Given the description of an element on the screen output the (x, y) to click on. 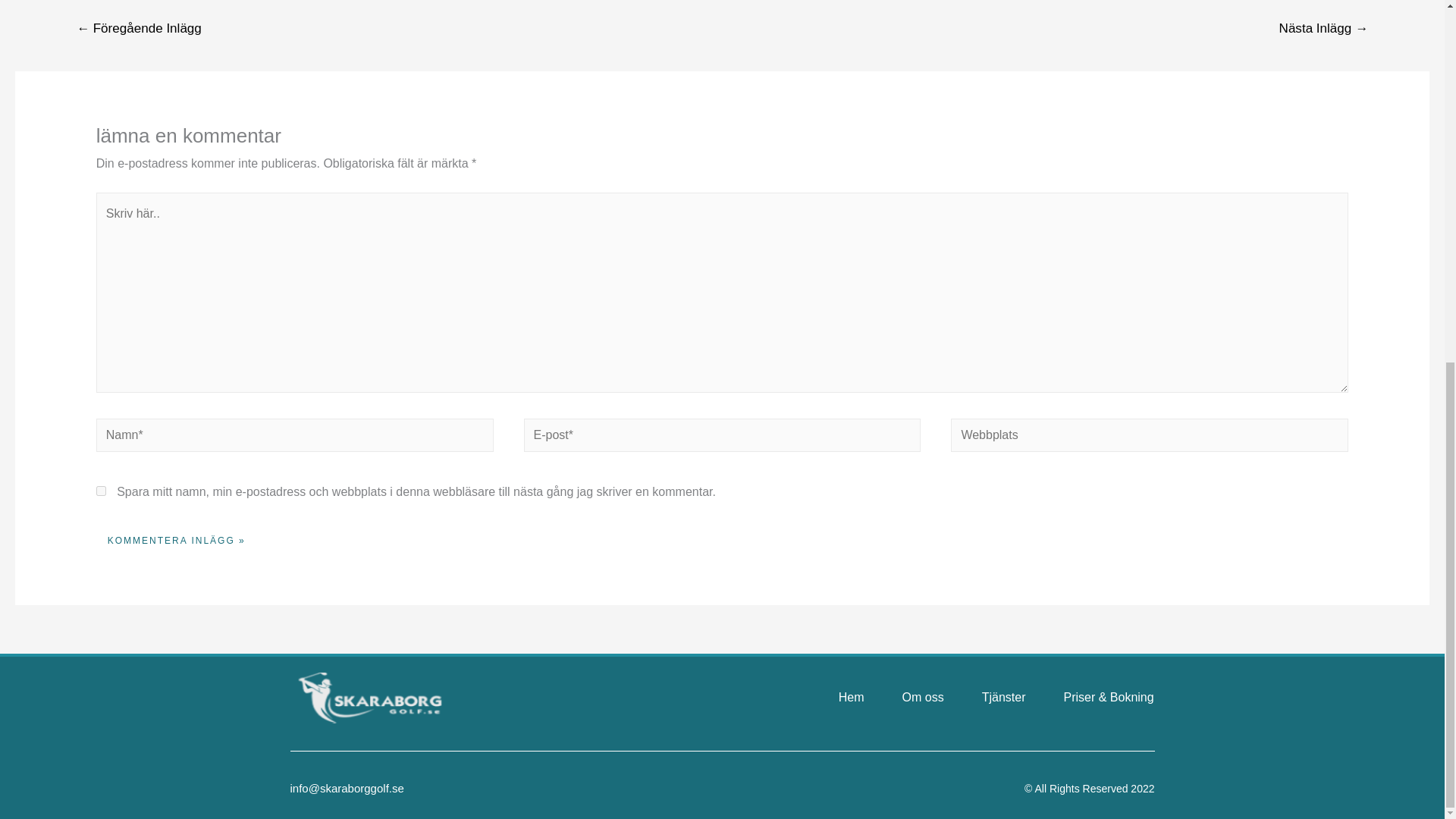
yes (101, 491)
Om oss (922, 697)
Hem (851, 697)
